Given the description of an element on the screen output the (x, y) to click on. 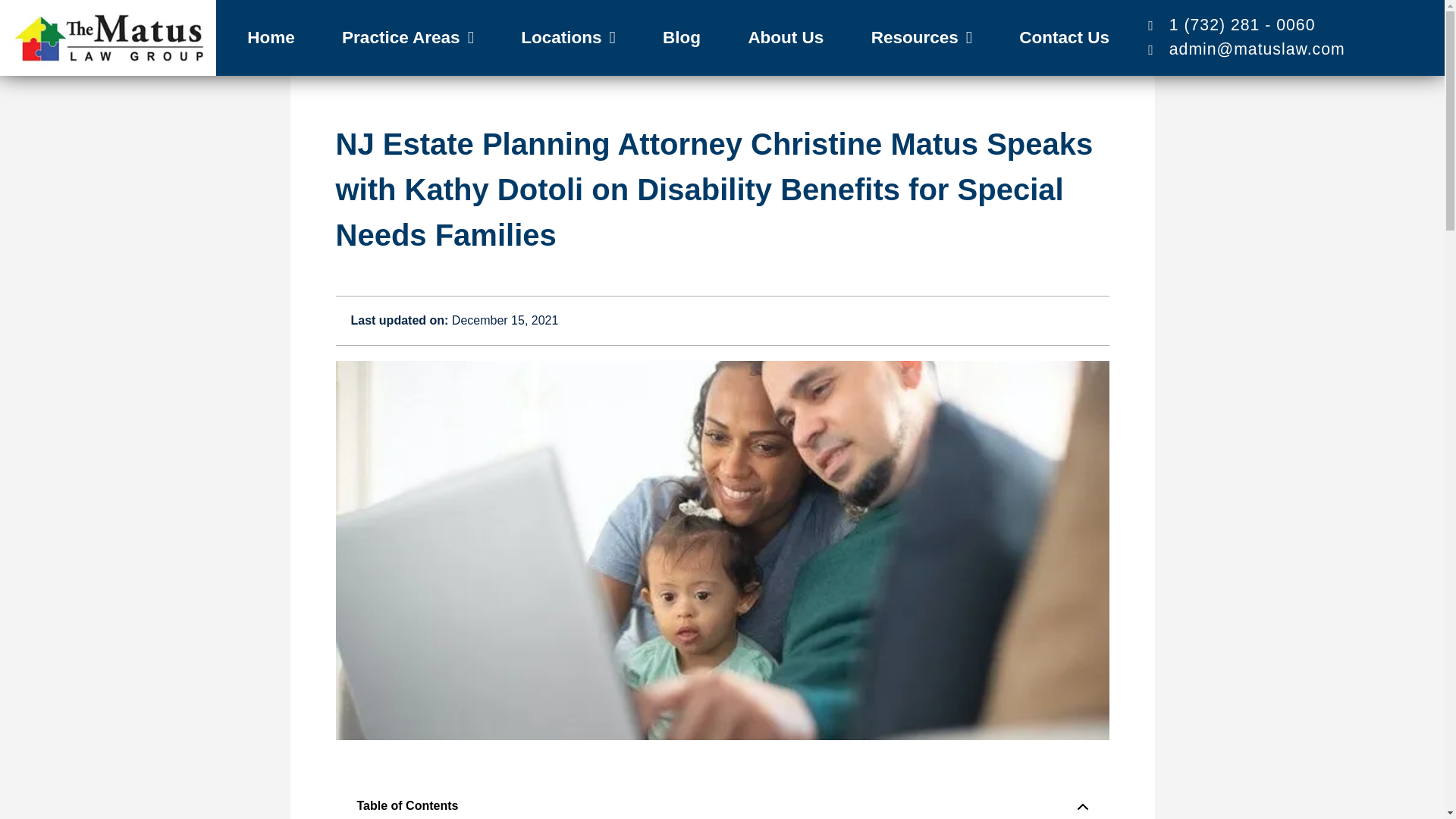
Home (271, 37)
Blog (681, 37)
Resources (921, 37)
Practice Areas (407, 37)
Locations (568, 37)
Contact Us (1063, 37)
About Us (785, 37)
